Given the description of an element on the screen output the (x, y) to click on. 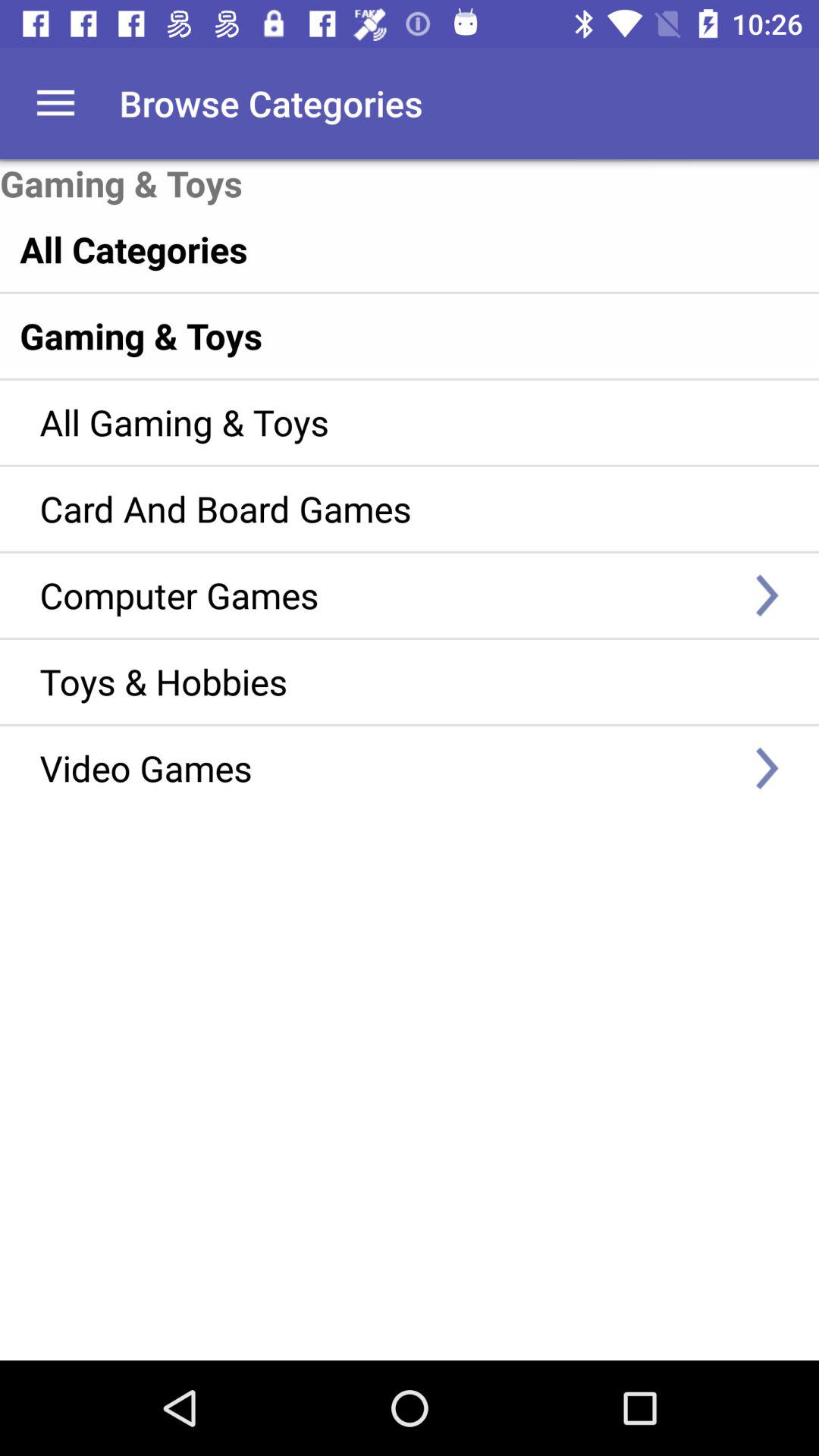
open options menu (55, 103)
